Given the description of an element on the screen output the (x, y) to click on. 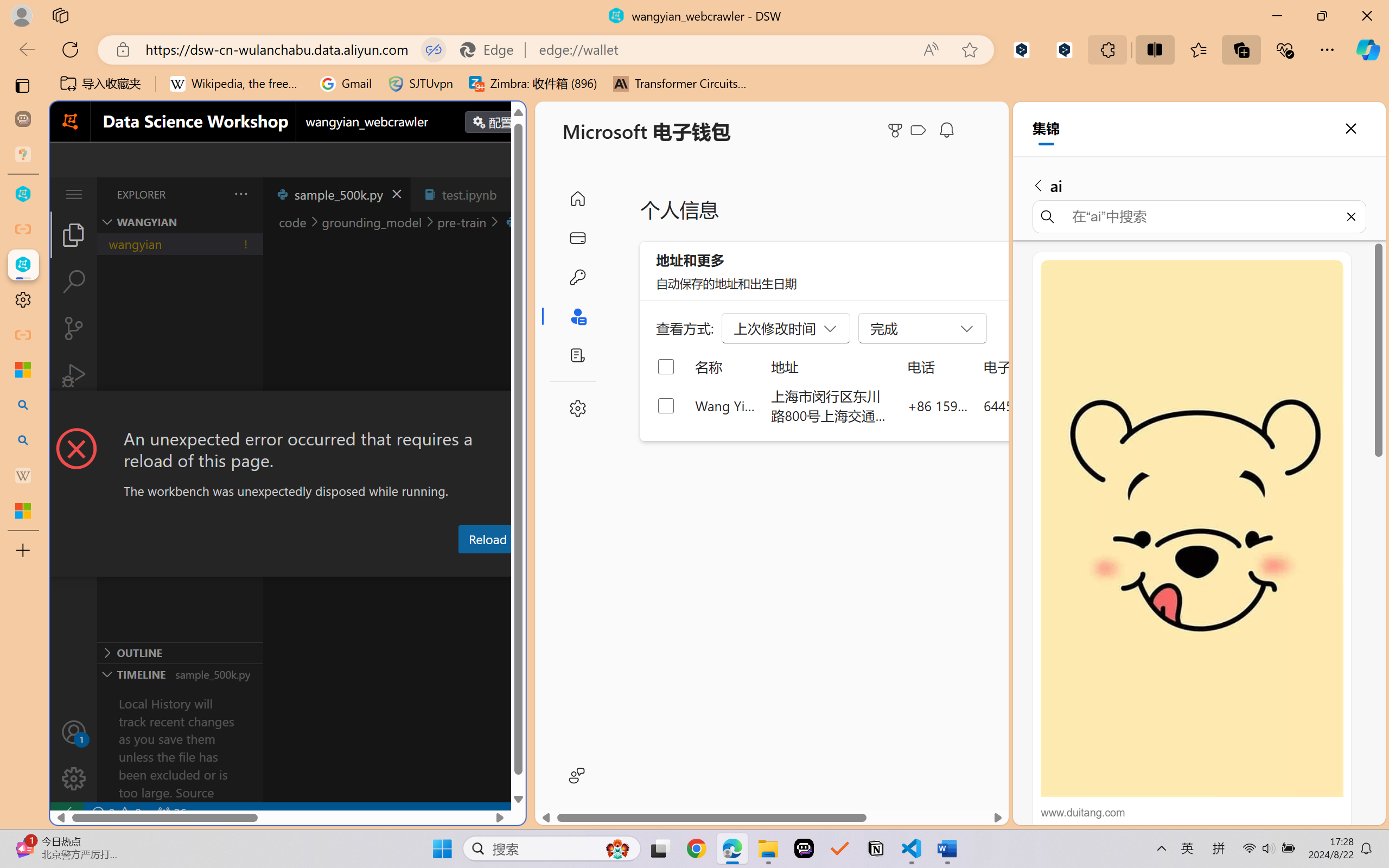
Class: ___1lmltc5 f1agt3bx f12qytpq (917, 130)
Terminal (Ctrl+`) (553, 565)
Copilot (Ctrl+Shift+.) (1368, 49)
